Given the description of an element on the screen output the (x, y) to click on. 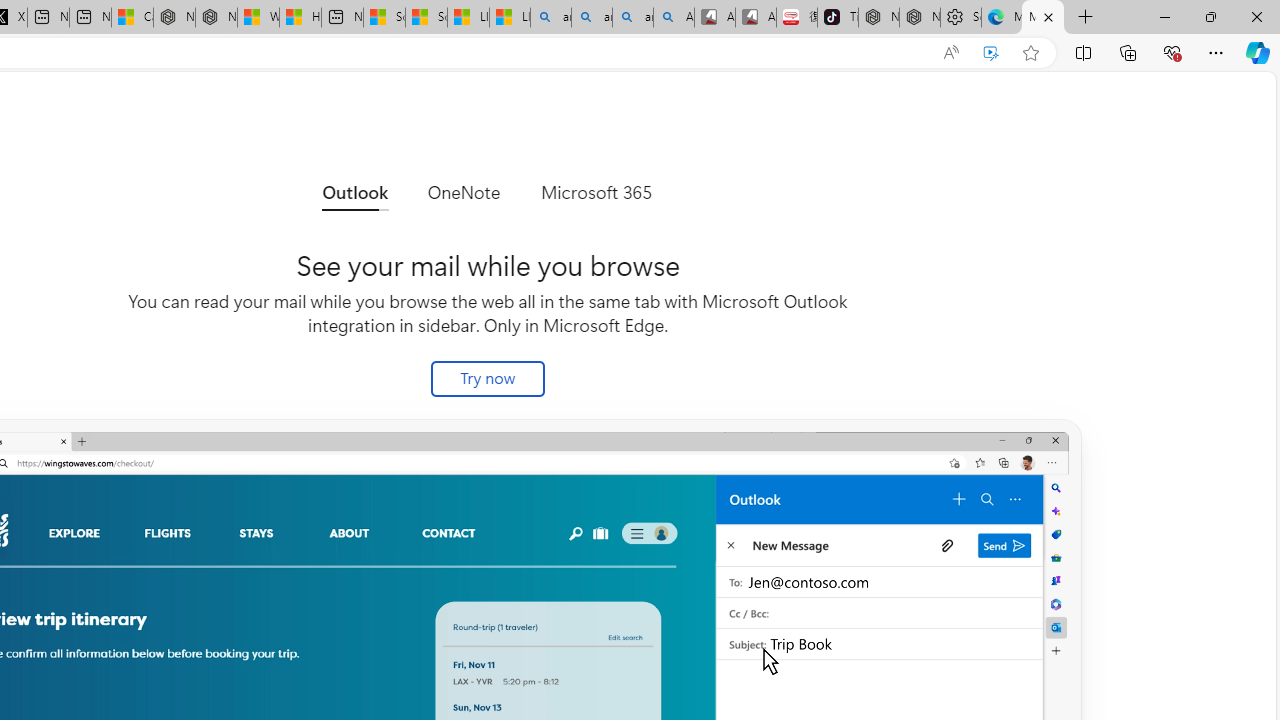
amazon - Search Images (632, 17)
Nordace Siena Pro 15 Backpack (919, 17)
Enhance video (991, 53)
